Given the description of an element on the screen output the (x, y) to click on. 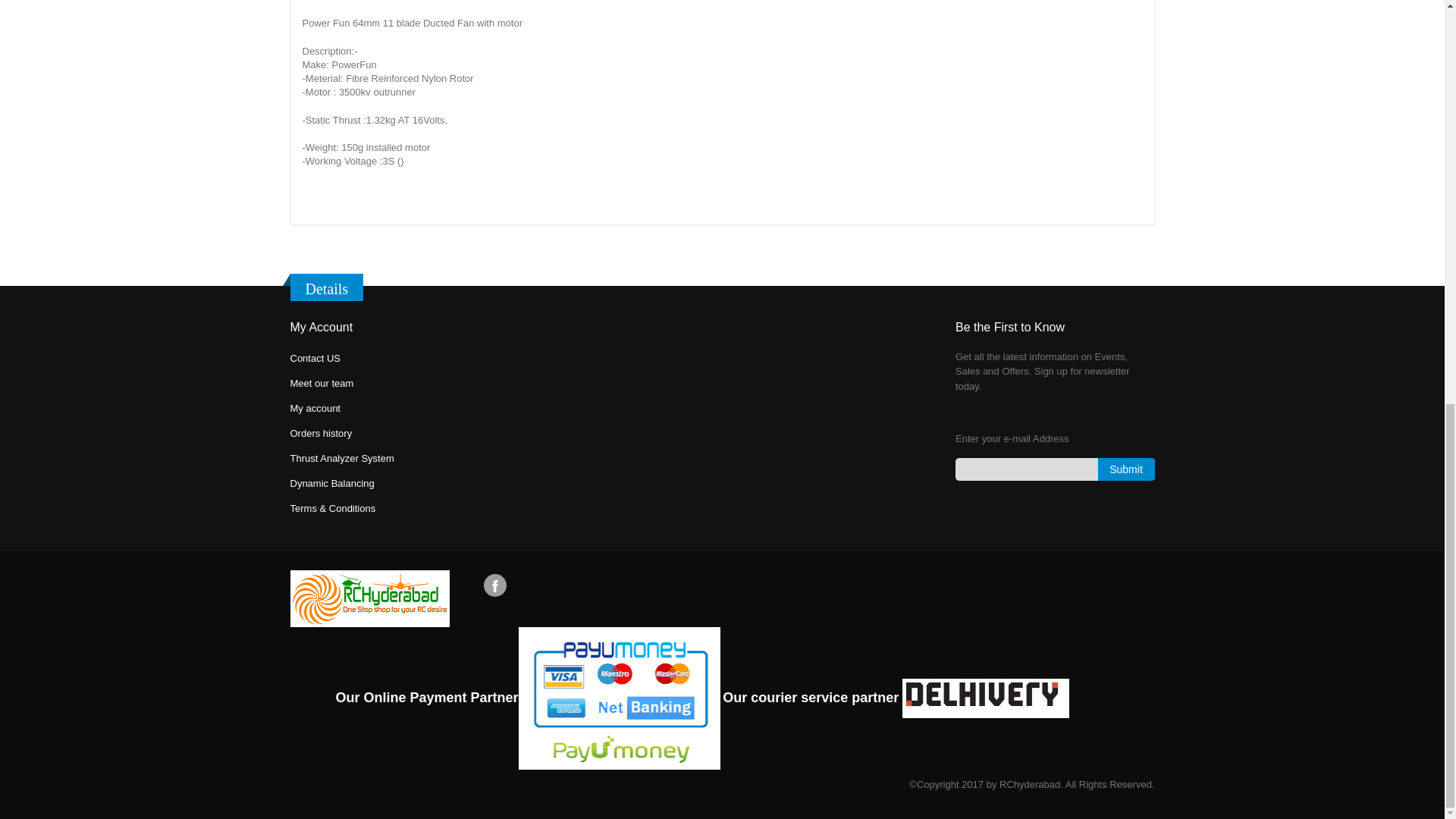
3D Modelling Designing Hyderabad (332, 508)
About us (314, 357)
My account (314, 408)
Orders history (320, 432)
Meet our Team (321, 383)
